Given the description of an element on the screen output the (x, y) to click on. 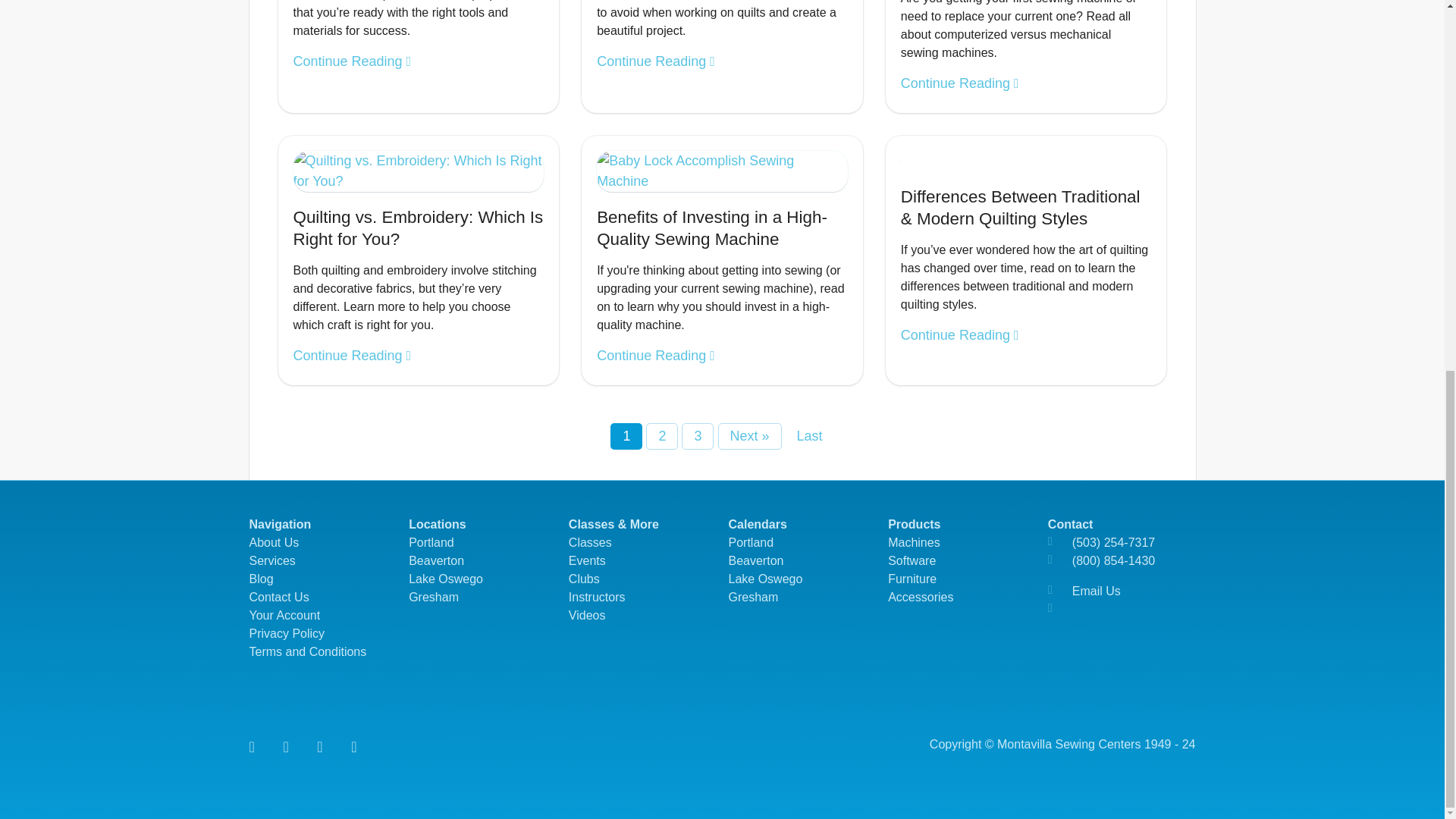
About Us (273, 542)
3 (697, 436)
Last (810, 436)
2 (662, 436)
